Given the description of an element on the screen output the (x, y) to click on. 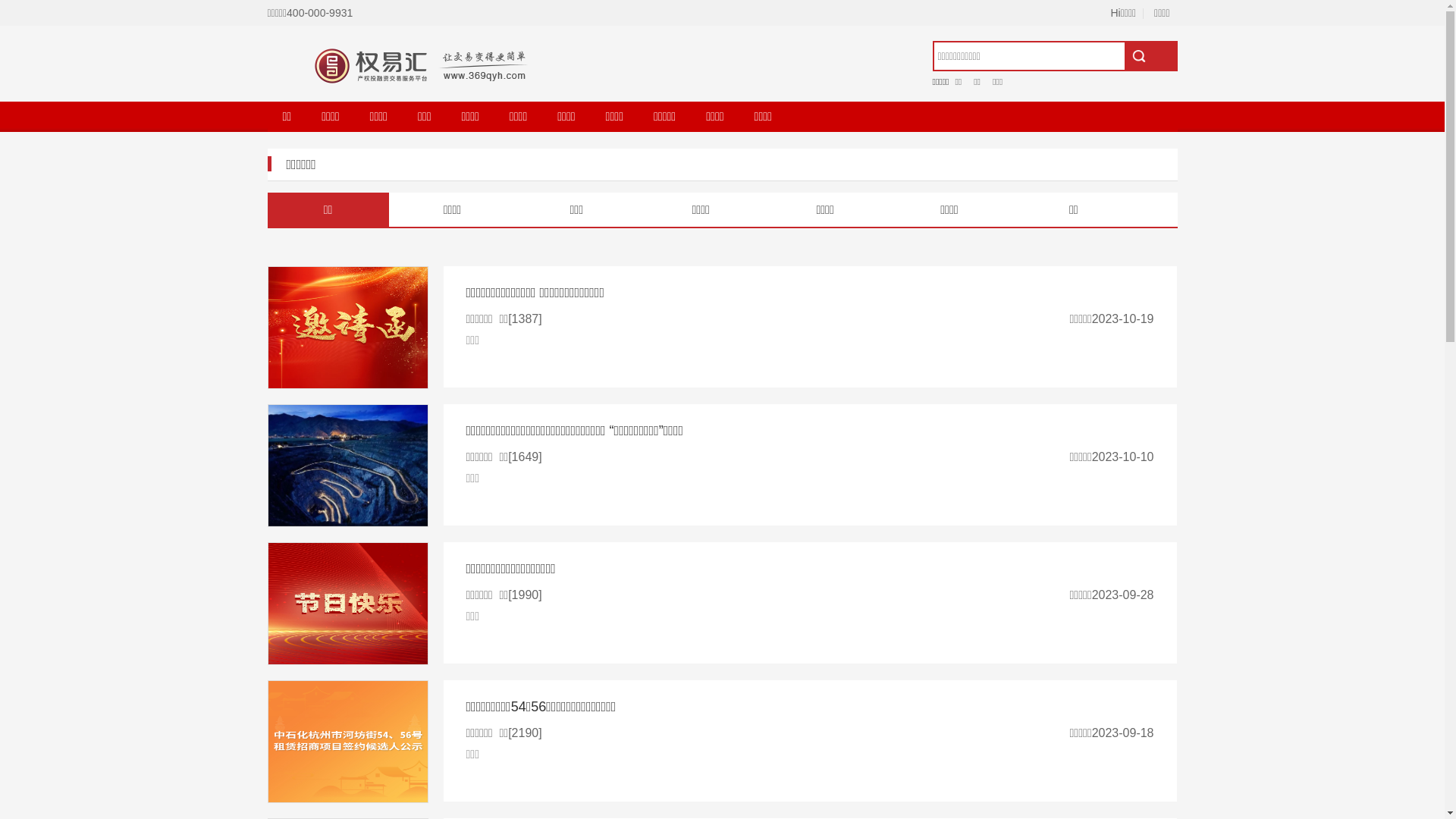
  Element type: text (1149, 55)
